Given the description of an element on the screen output the (x, y) to click on. 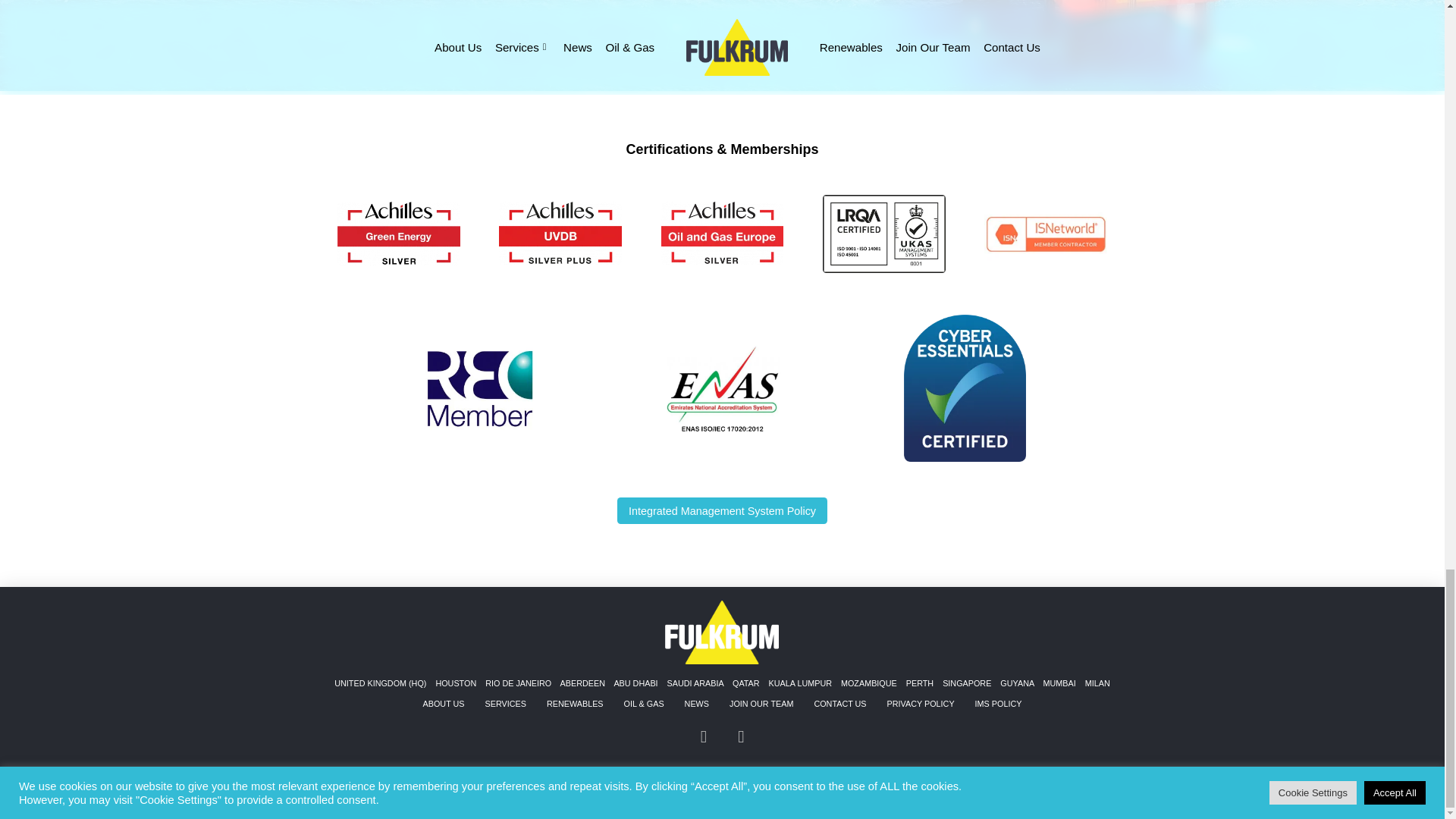
ABOUT US (443, 704)
PRIVACY POLICY (919, 704)
CONTACT US (839, 704)
JOIN OUR TEAM (761, 704)
IMS POLICY (997, 704)
NEWS (696, 704)
SERVICES (504, 704)
RENEWABLES (573, 704)
Integrated Management System Policy (722, 510)
